Given the description of an element on the screen output the (x, y) to click on. 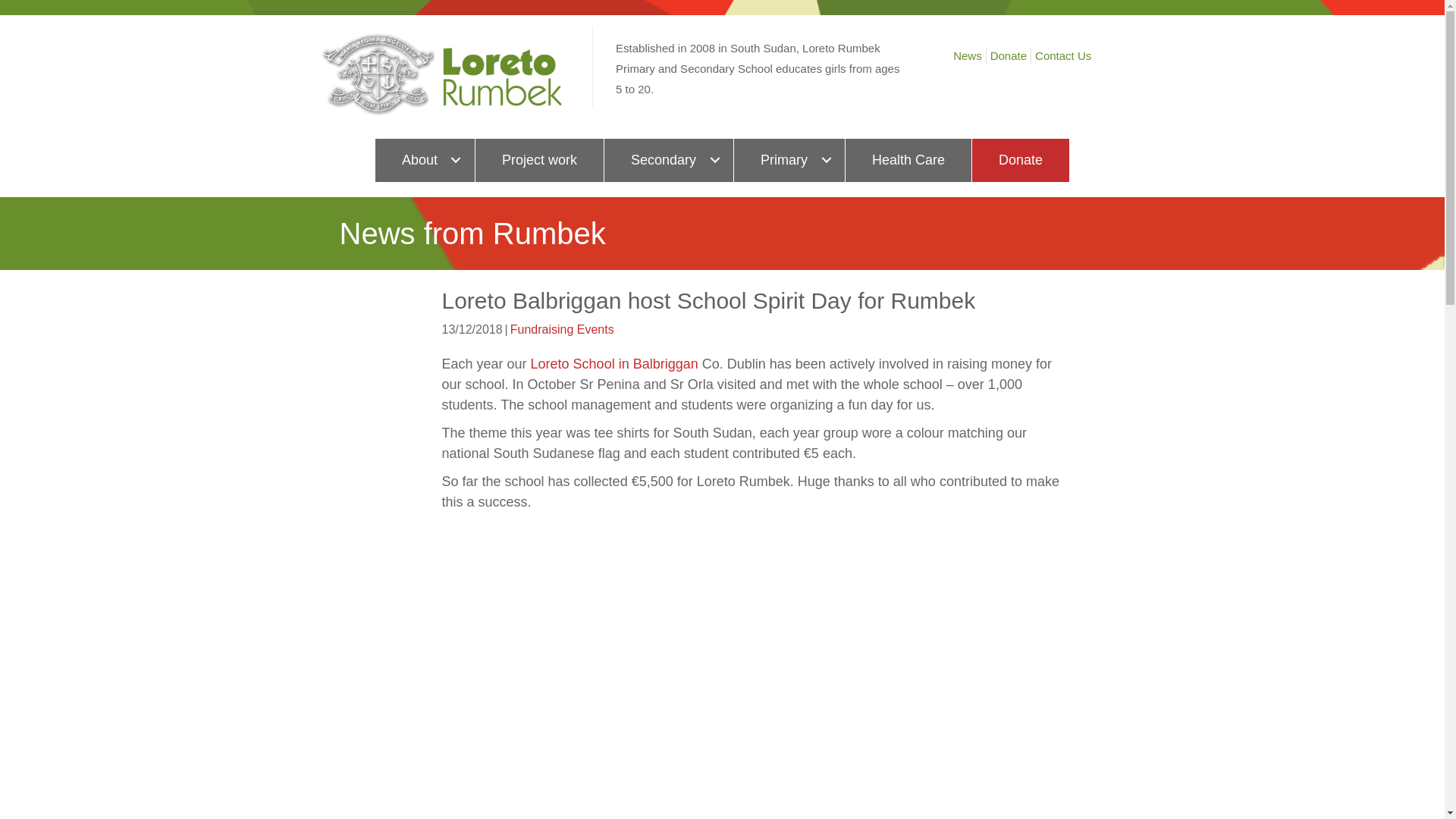
green logo (441, 75)
Donate (1008, 56)
Loreto School in Balbriggan (614, 363)
Fundraising Events (562, 328)
News (967, 56)
Donate (1020, 159)
Secondary (668, 159)
Primary (788, 159)
Health Care (908, 159)
Contact Us (1062, 56)
Project work (540, 159)
About (424, 159)
